Given the description of an element on the screen output the (x, y) to click on. 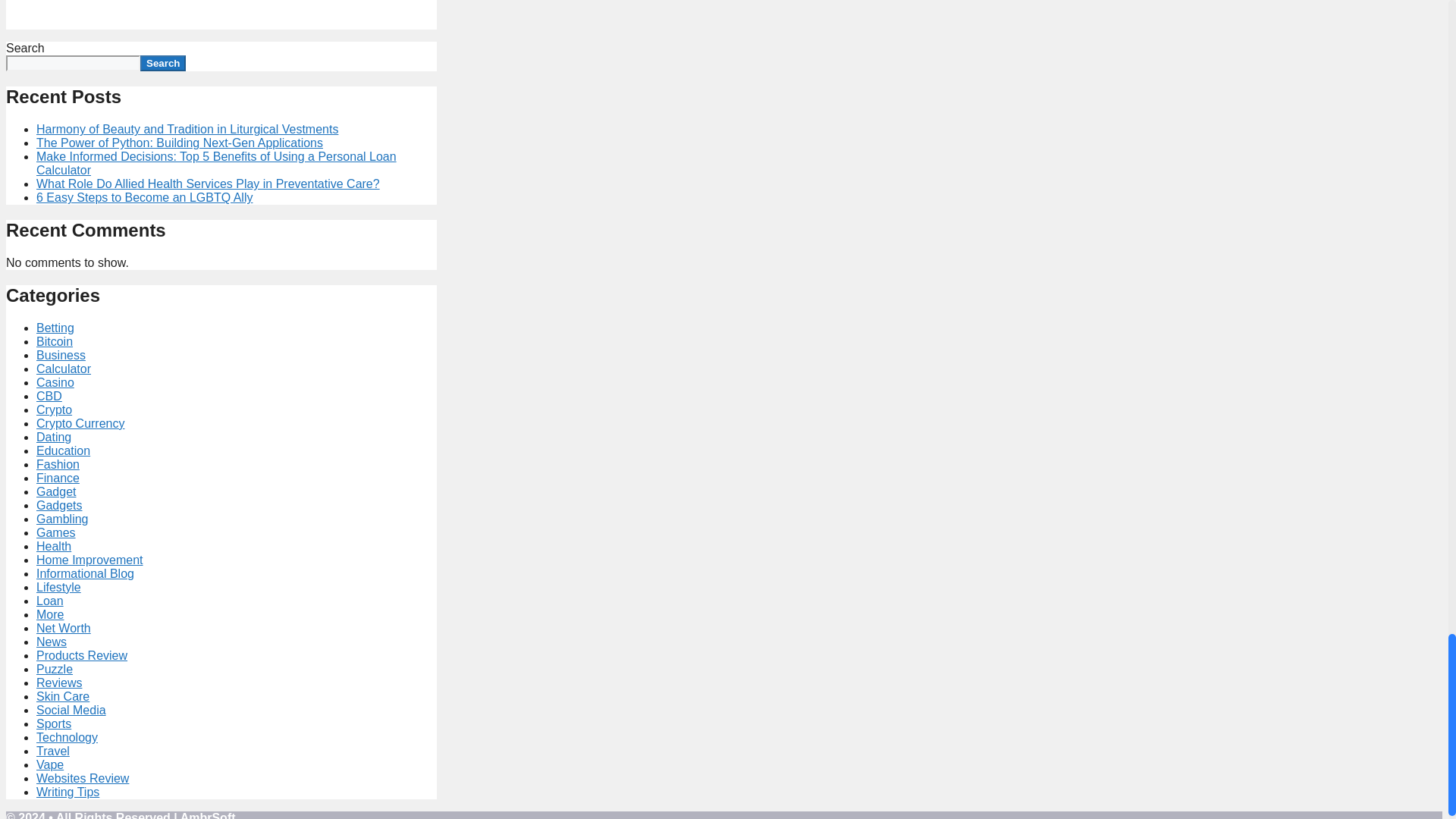
Harmony of Beauty and Tradition in Liturgical Vestments (186, 128)
Business (60, 354)
6 Easy Steps to Become an LGBTQ Ally (143, 196)
Dating (53, 436)
Crypto Currency (79, 422)
Search (162, 63)
Calculator (63, 368)
Bitcoin (54, 341)
Education (63, 450)
Casino (55, 382)
The Power of Python: Building Next-Gen Applications (179, 142)
CBD (49, 395)
Betting (55, 327)
